Given the description of an element on the screen output the (x, y) to click on. 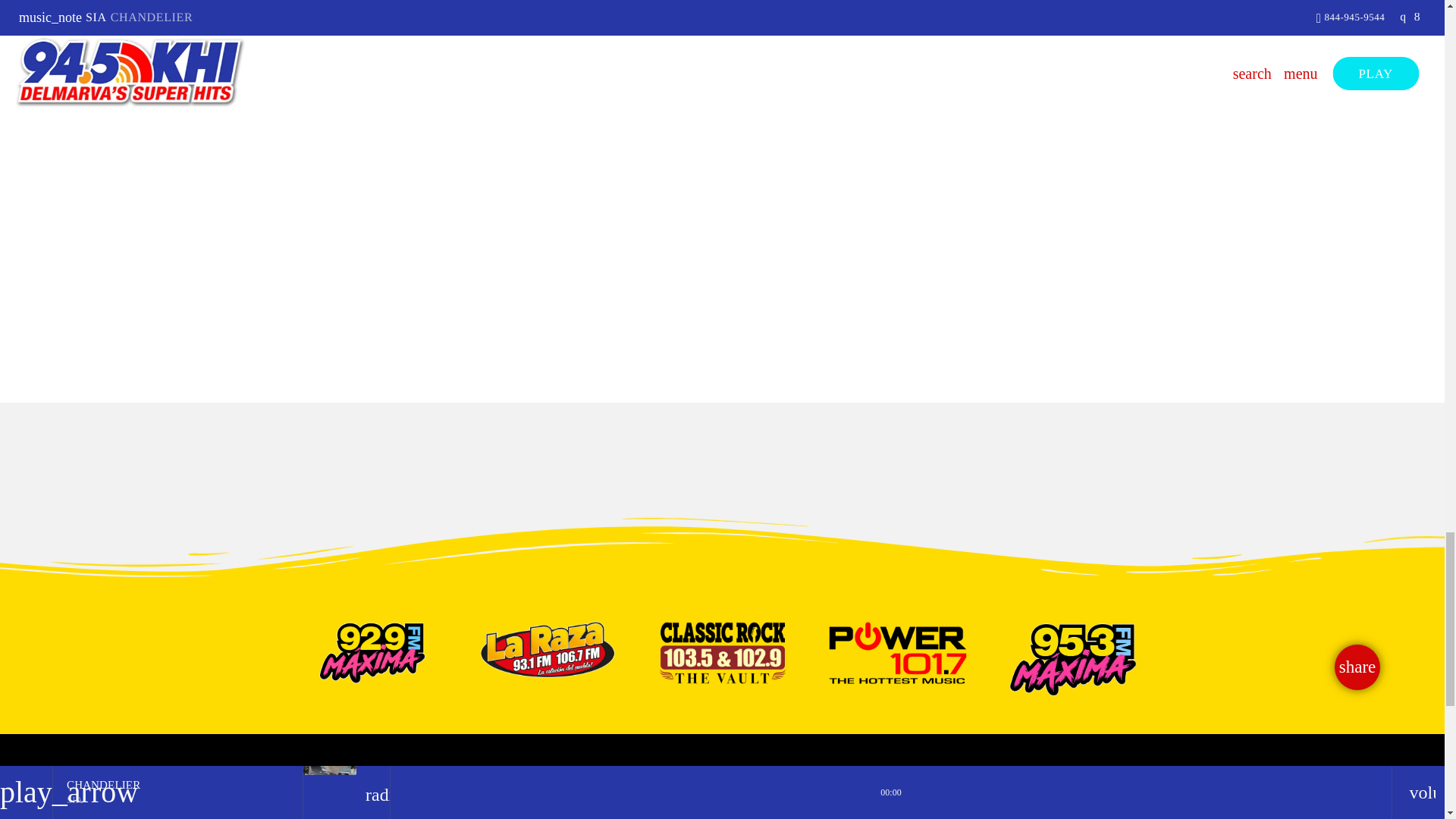
Power 101.7 (897, 653)
thevaultrocks (722, 653)
Maxima929 (371, 653)
La Raza 900 (546, 649)
Maxima 95.3 (1072, 659)
